Given the description of an element on the screen output the (x, y) to click on. 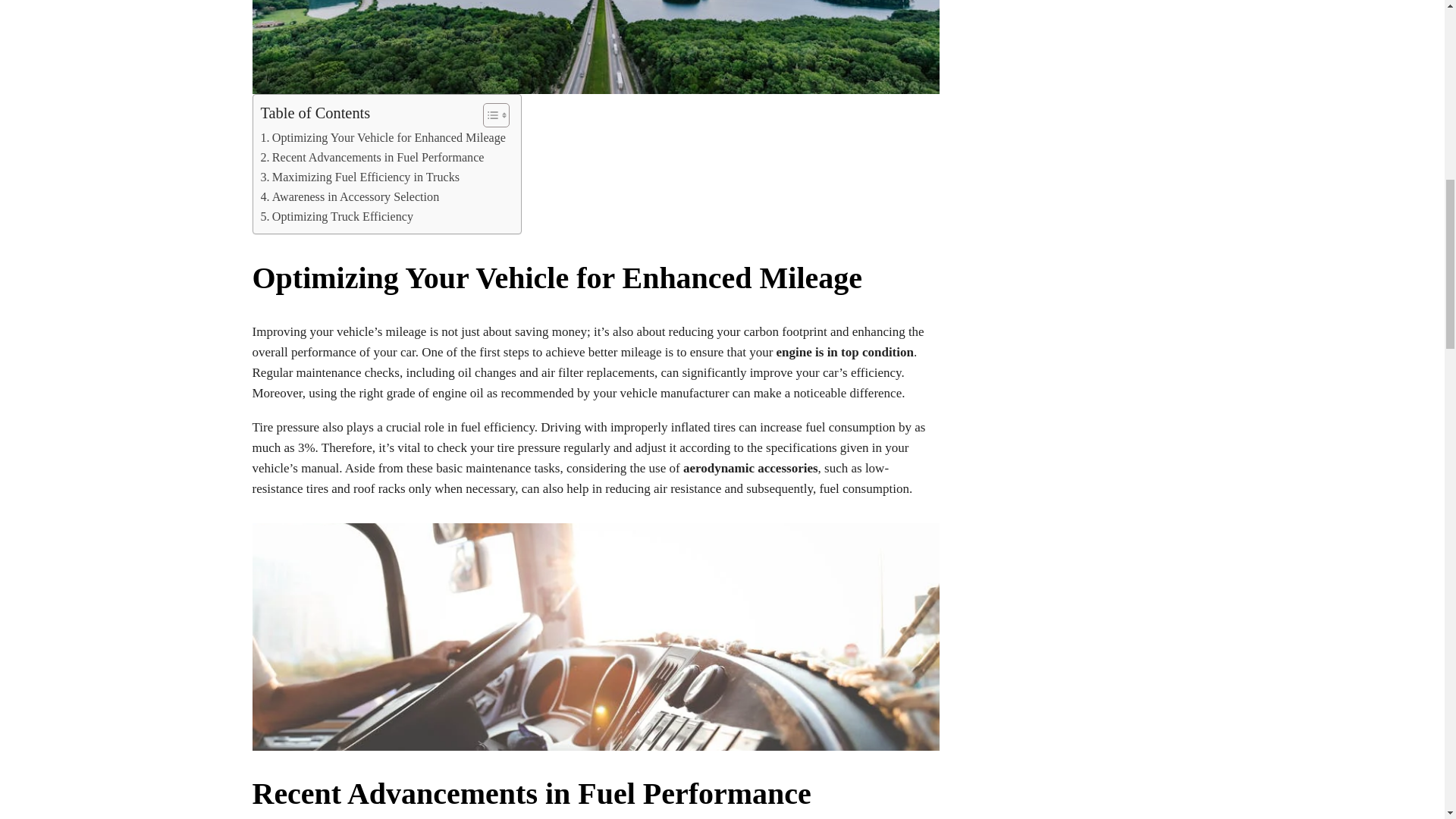
Awareness in Accessory Selection (349, 197)
Recent Advancements in Fuel Performance (372, 157)
Maximizing Fuel Efficiency in Trucks (360, 177)
Optimizing Your Vehicle for Enhanced Mileage (382, 137)
Awareness in Accessory Selection (349, 197)
Optimizing Truck Efficiency (336, 216)
Maximizing Fuel Efficiency in Trucks (360, 177)
Recent Advancements in Fuel Performance (372, 157)
Optimizing Your Vehicle for Enhanced Mileage (382, 137)
Optimizing Truck Efficiency (336, 216)
